Given the description of an element on the screen output the (x, y) to click on. 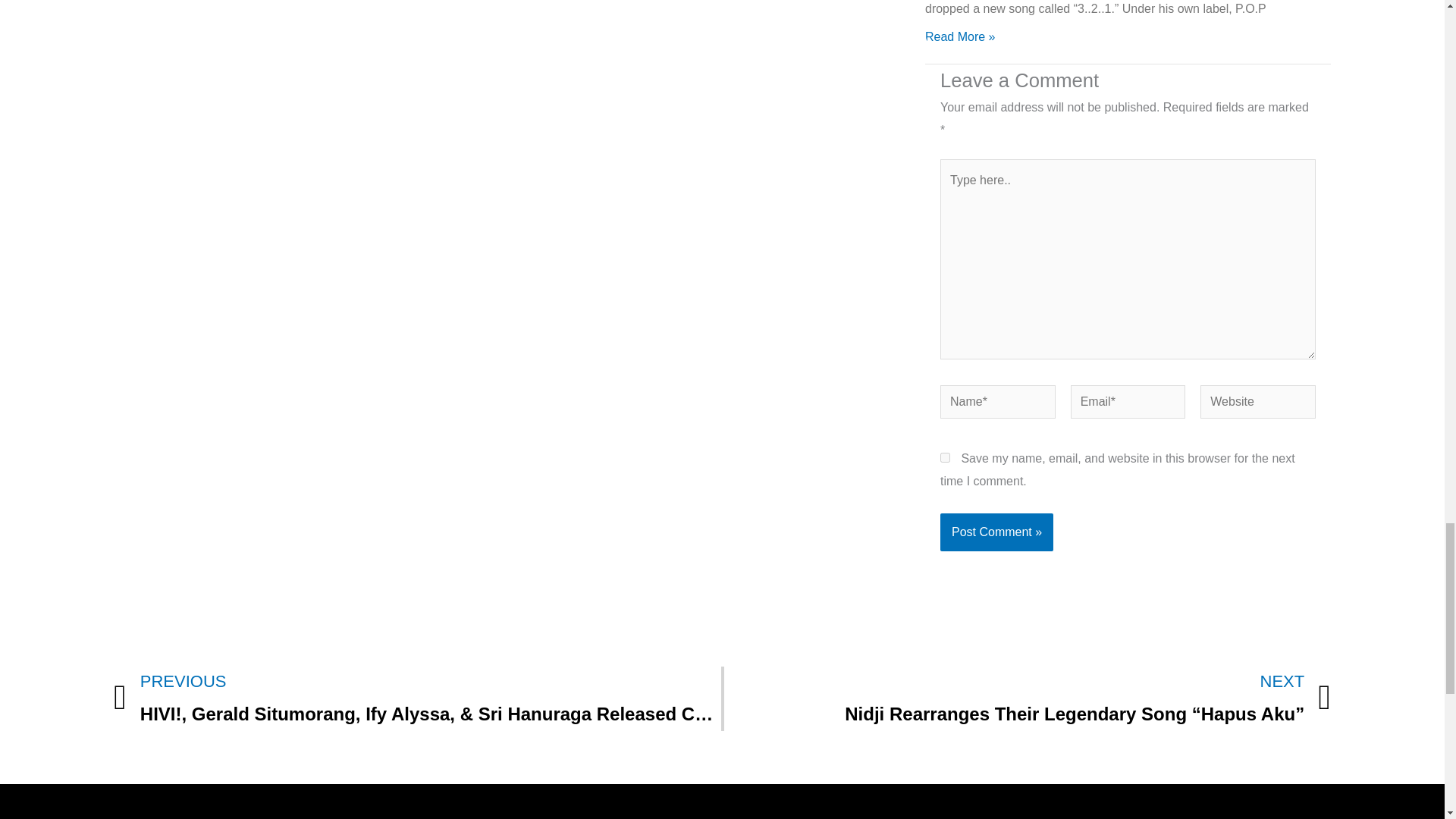
yes (945, 457)
